Given the description of an element on the screen output the (x, y) to click on. 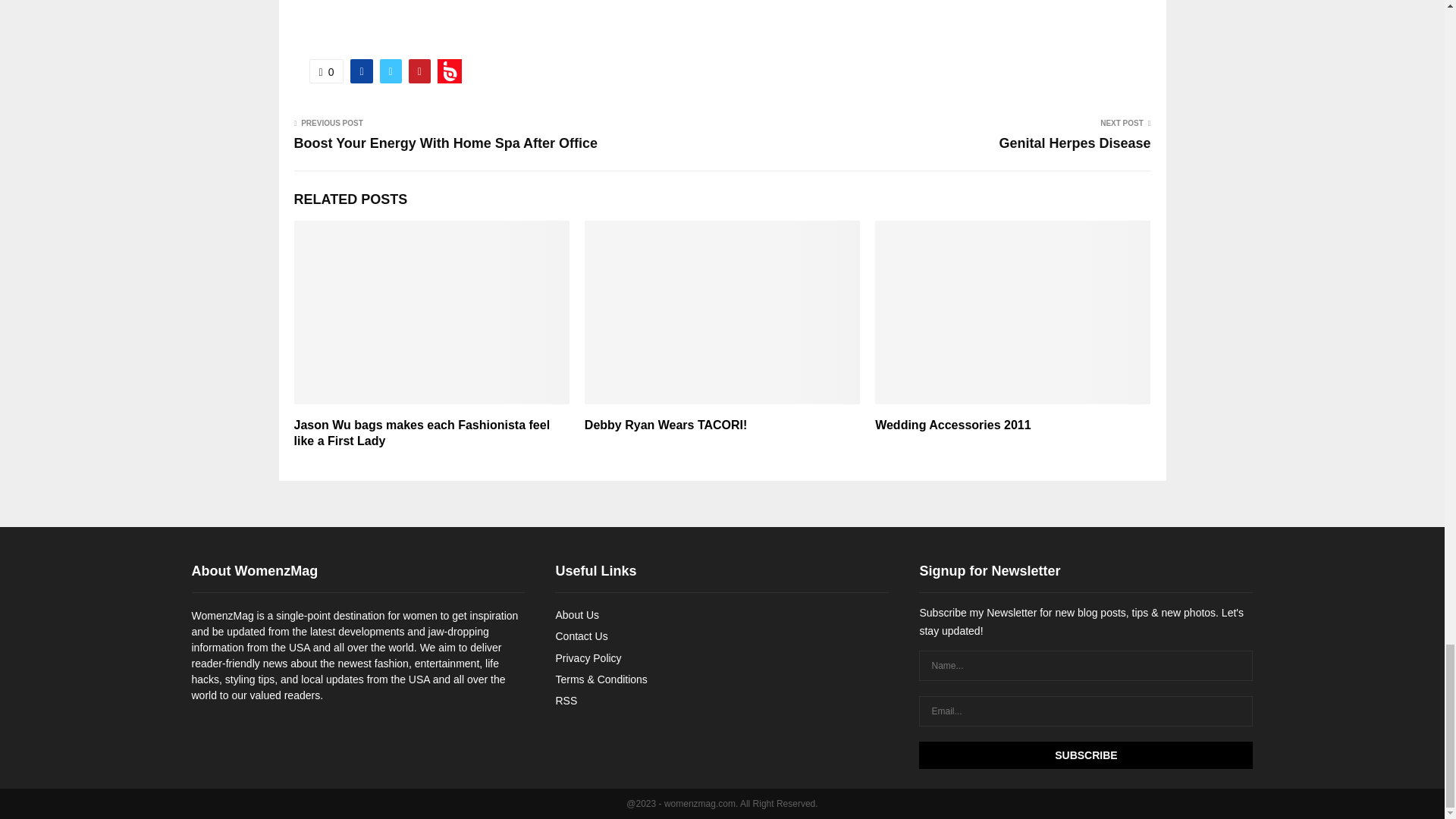
Boost Your Energy With Home Spa After Office (446, 142)
0 (325, 70)
Jason Wu bags makes each Fashionista feel like a First Lady (422, 432)
Genital Herpes Disease (1074, 142)
Subscribe (1085, 755)
